Given the description of an element on the screen output the (x, y) to click on. 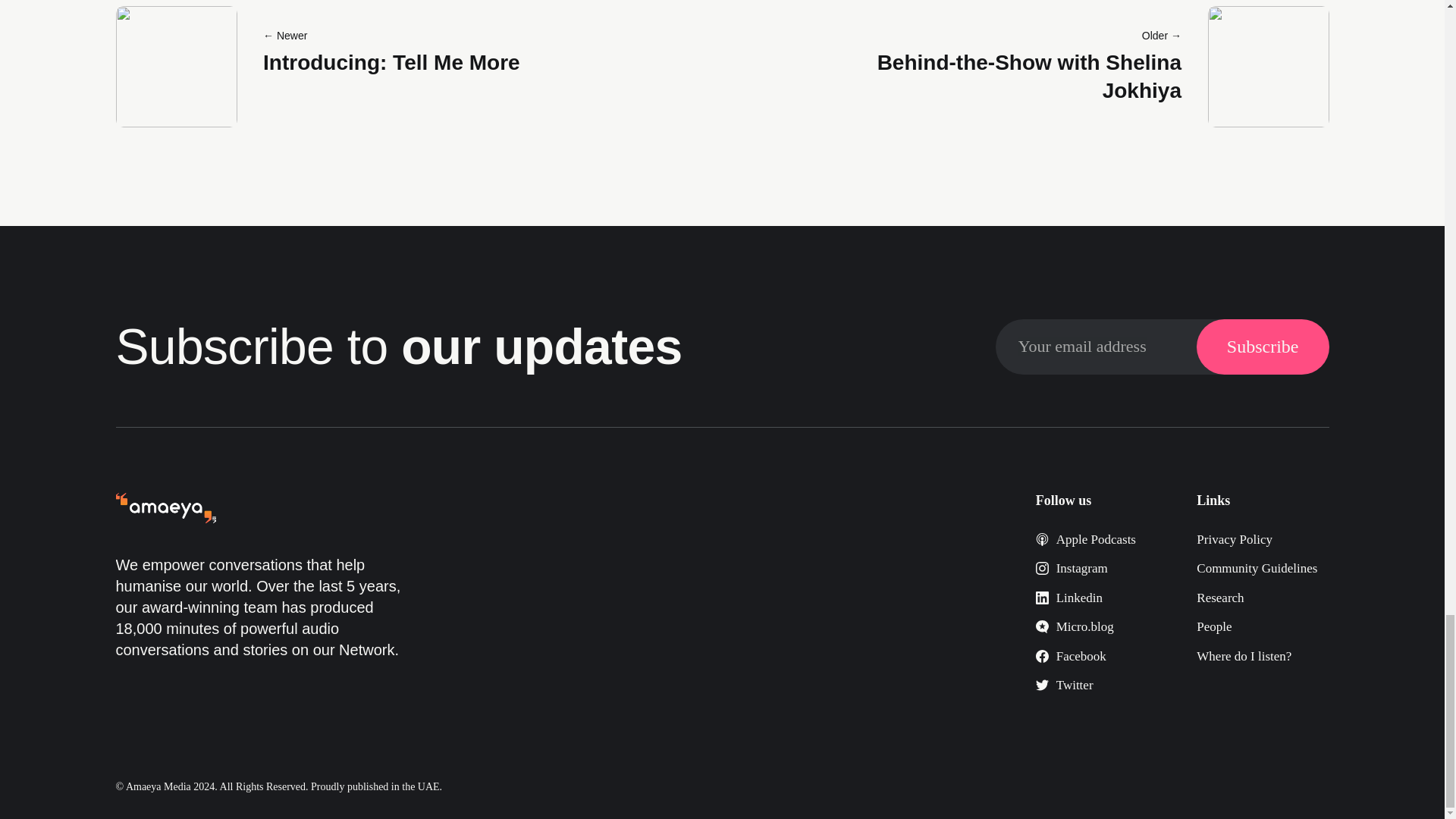
Amaeya Media (157, 786)
Where do I listen? (1243, 656)
Research (1219, 597)
Privacy Policy (1234, 539)
People (1213, 626)
Micro.blog (1074, 626)
Subscribe (1262, 346)
Twitter (1064, 685)
Instagram (1071, 568)
Linkedin (1068, 597)
